Given the description of an element on the screen output the (x, y) to click on. 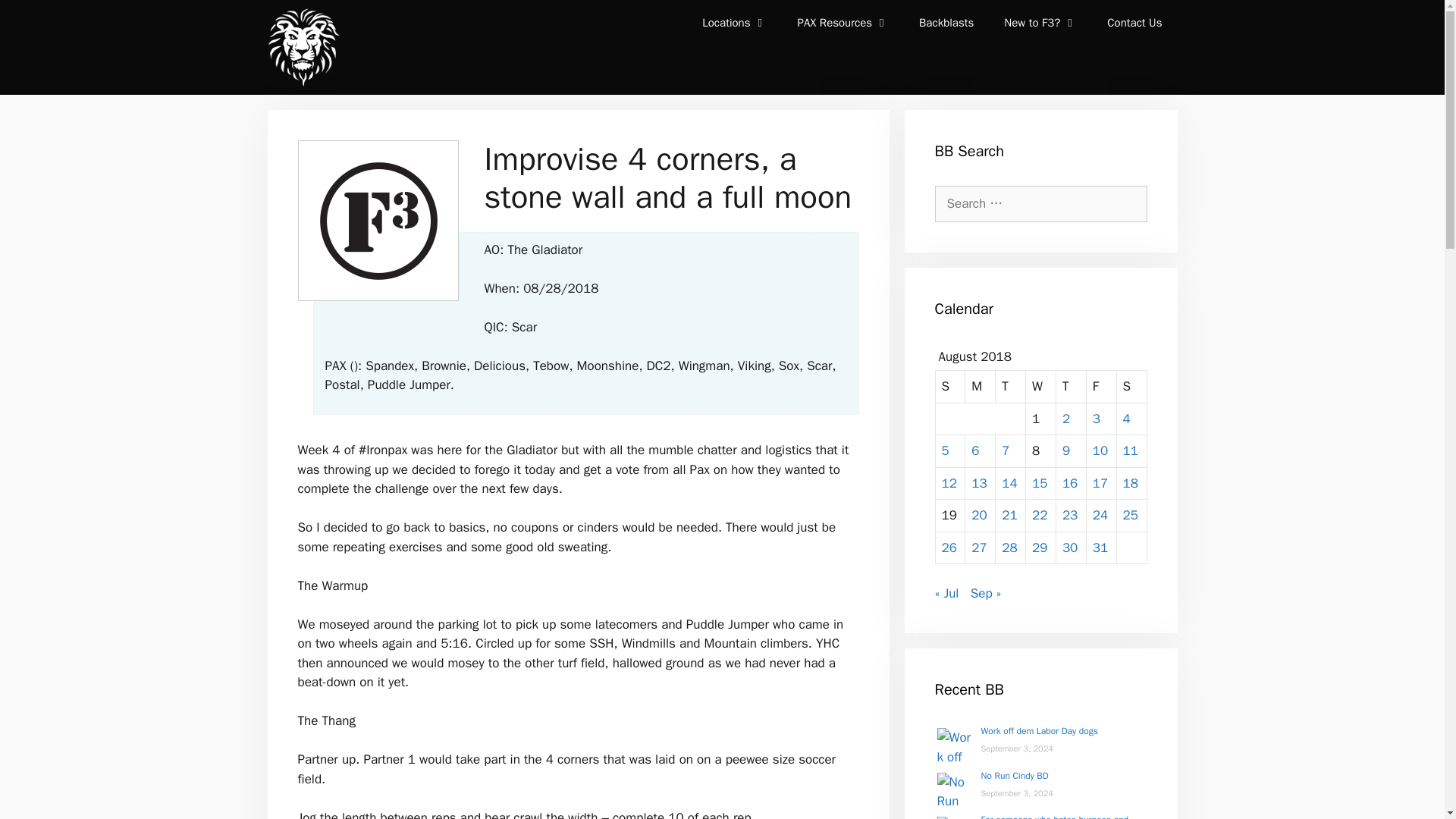
Tuesday (1010, 387)
New to F3? (1040, 22)
PAX Resources (843, 22)
Saturday (1131, 387)
Contact Us (1134, 22)
Sunday (951, 387)
Backblasts (946, 22)
Monday (980, 387)
F3Alpha (302, 47)
Locations (734, 22)
